Given the description of an element on the screen output the (x, y) to click on. 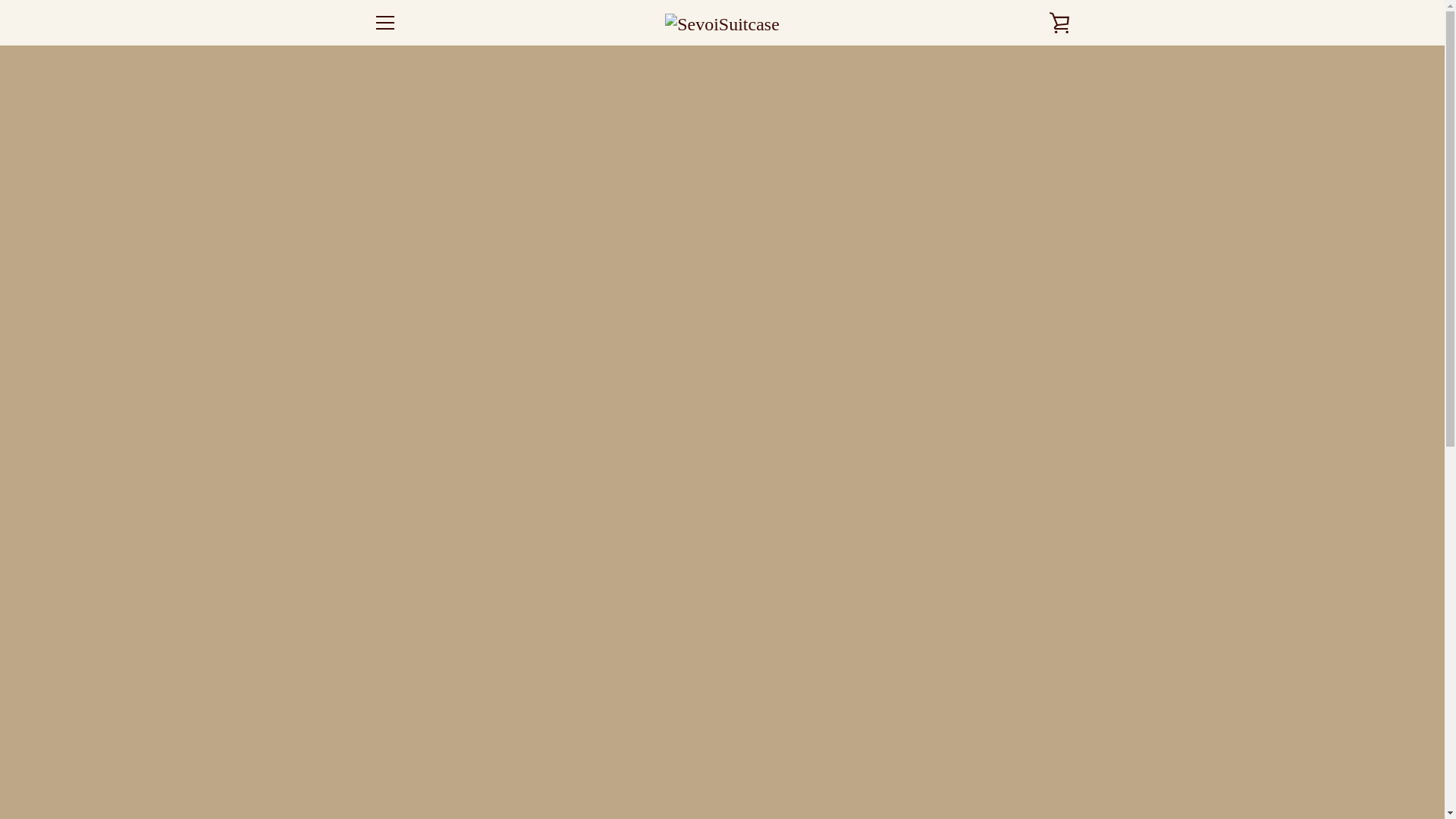
MENU (384, 22)
VIEW CART (1059, 22)
